Given the description of an element on the screen output the (x, y) to click on. 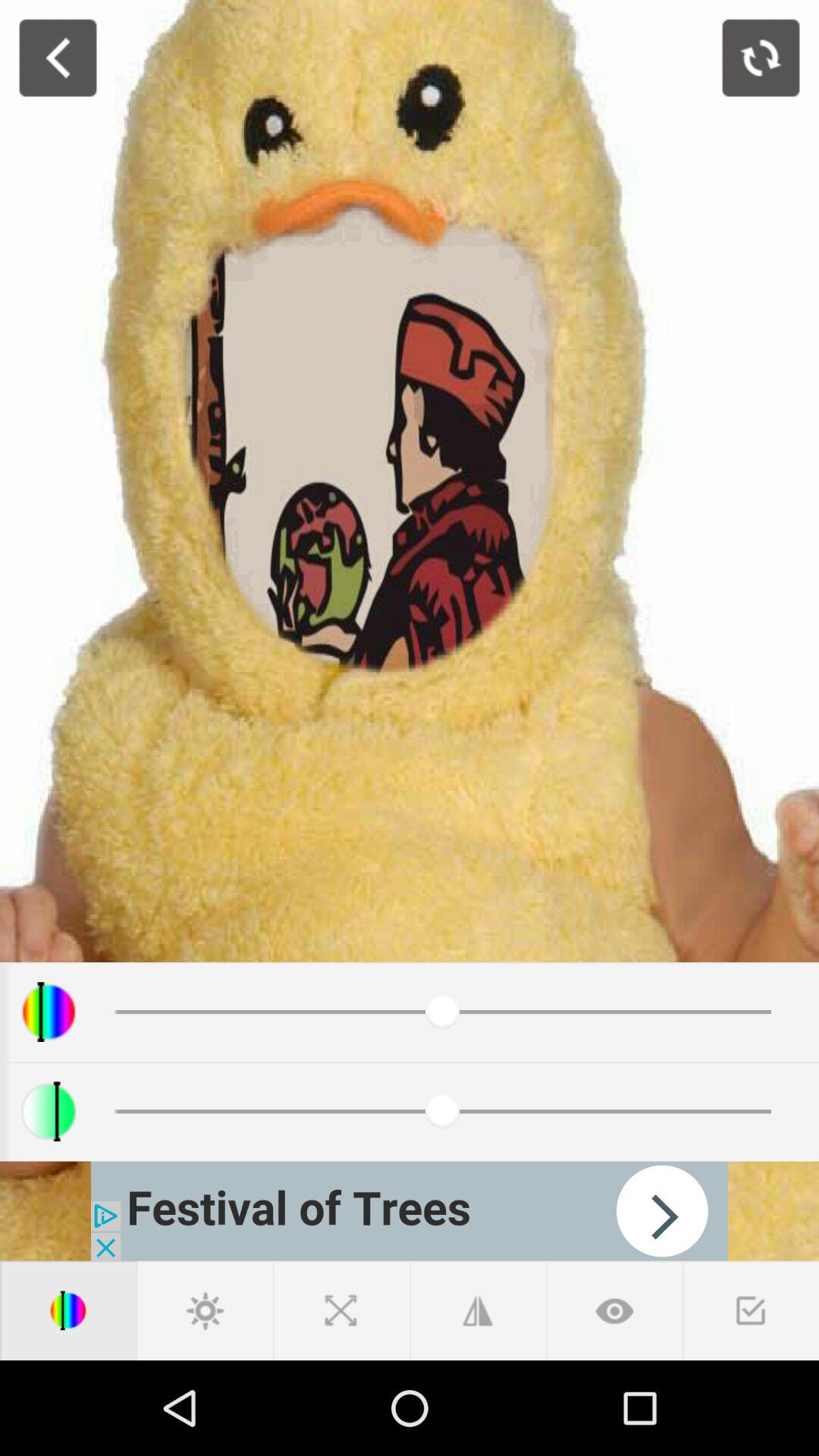
settings option (204, 1310)
